Given the description of an element on the screen output the (x, y) to click on. 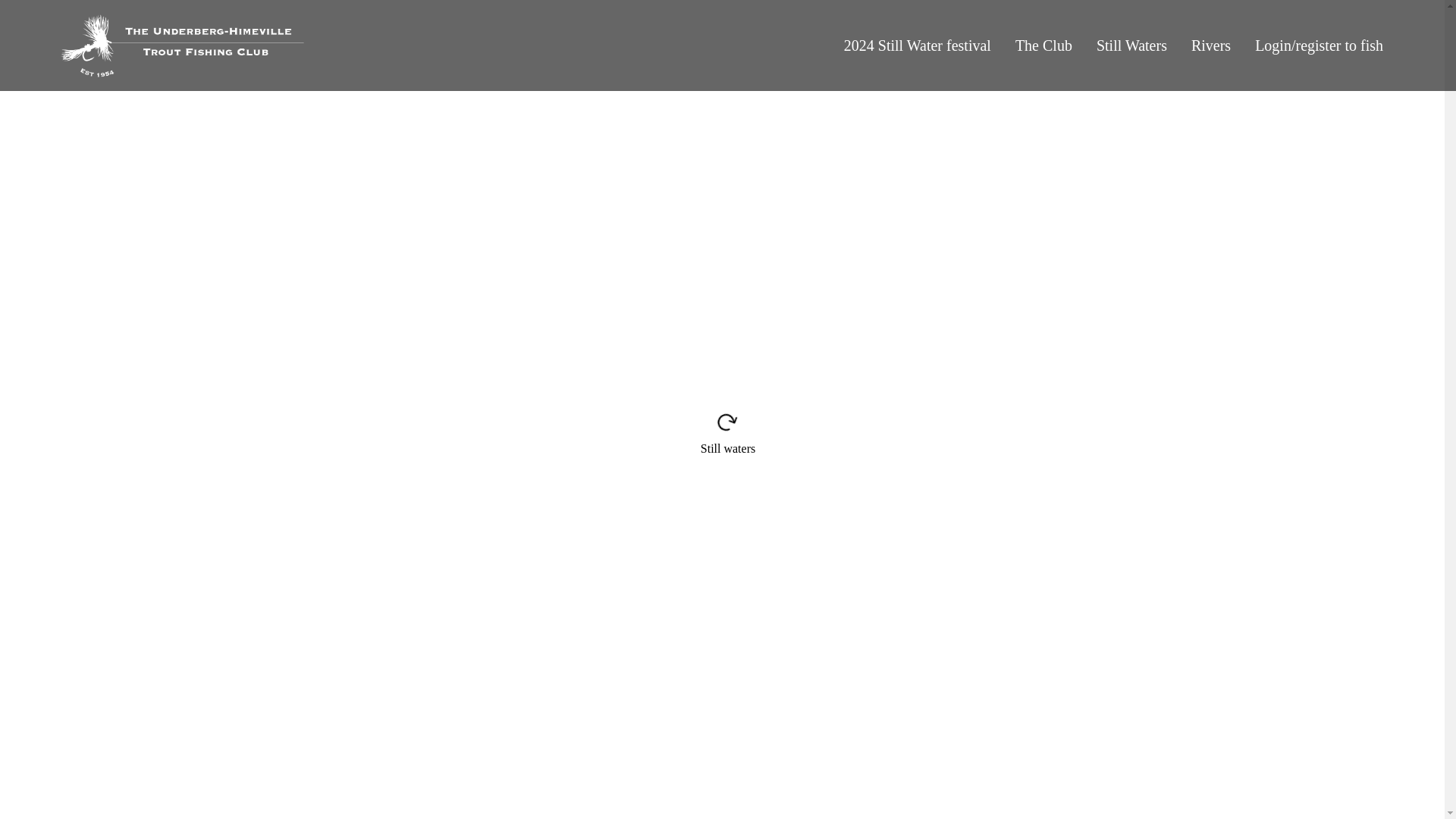
Still Waters (1131, 45)
The Club (1042, 45)
2024 Still Water festival (917, 45)
Rivers (1210, 45)
